Given the description of an element on the screen output the (x, y) to click on. 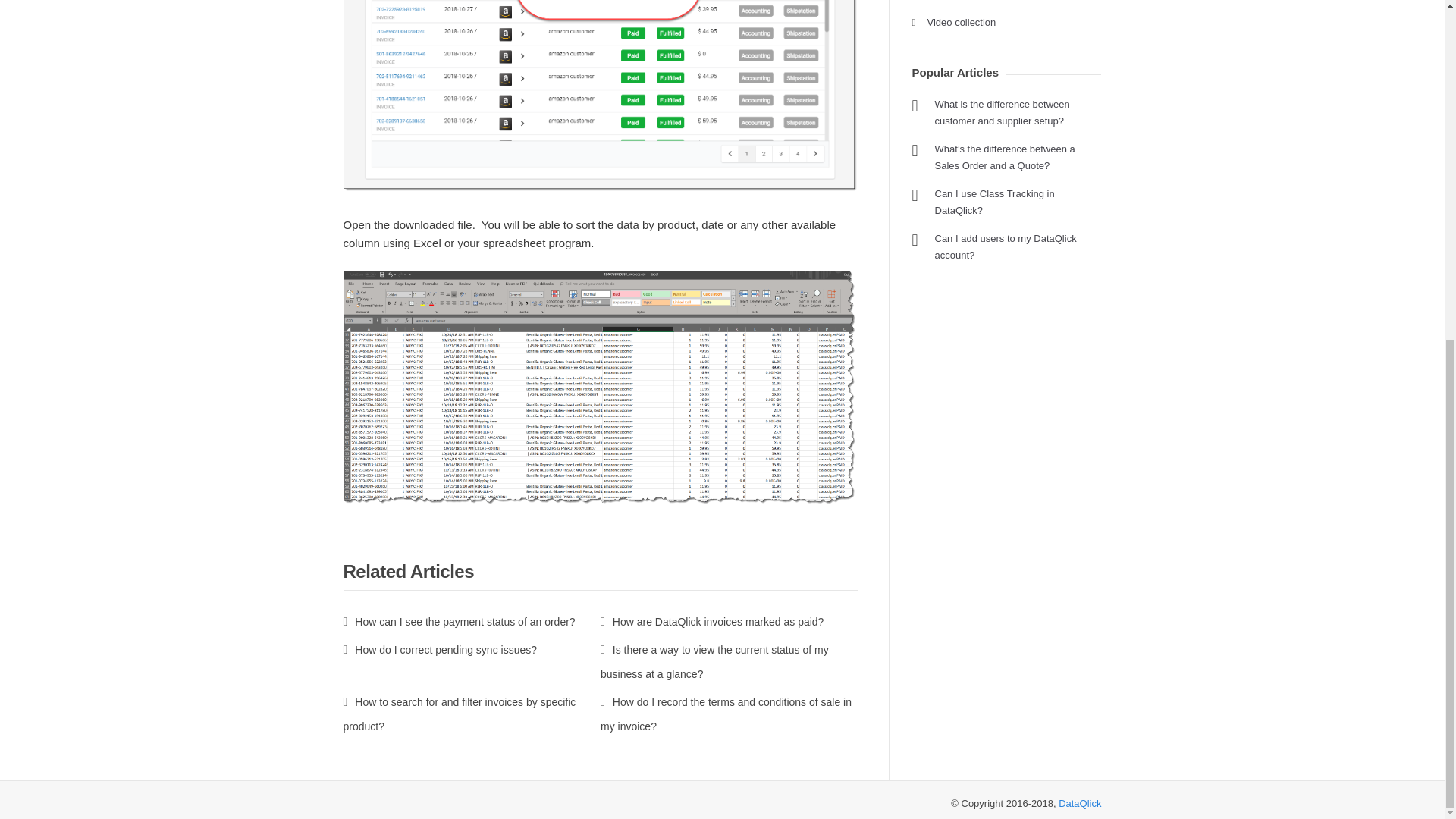
Can I use Class Tracking in DataQlick? (994, 202)
How can I see the payment status of an order? (458, 621)
How are DataQlick invoices marked as paid? (711, 621)
What is the difference between customer and supplier setup? (1001, 112)
How to search for and filter invoices by specific product? (458, 714)
How can I see the payment status of an order? (458, 621)
Can I add users to my DataQlick account? (1004, 246)
How to search for and filter invoices by specific product? (458, 714)
How are DataQlick invoices marked as paid? (711, 621)
How do I correct pending sync issues? (439, 649)
Video collection (960, 21)
How do I correct pending sync issues? (439, 649)
